Given the description of an element on the screen output the (x, y) to click on. 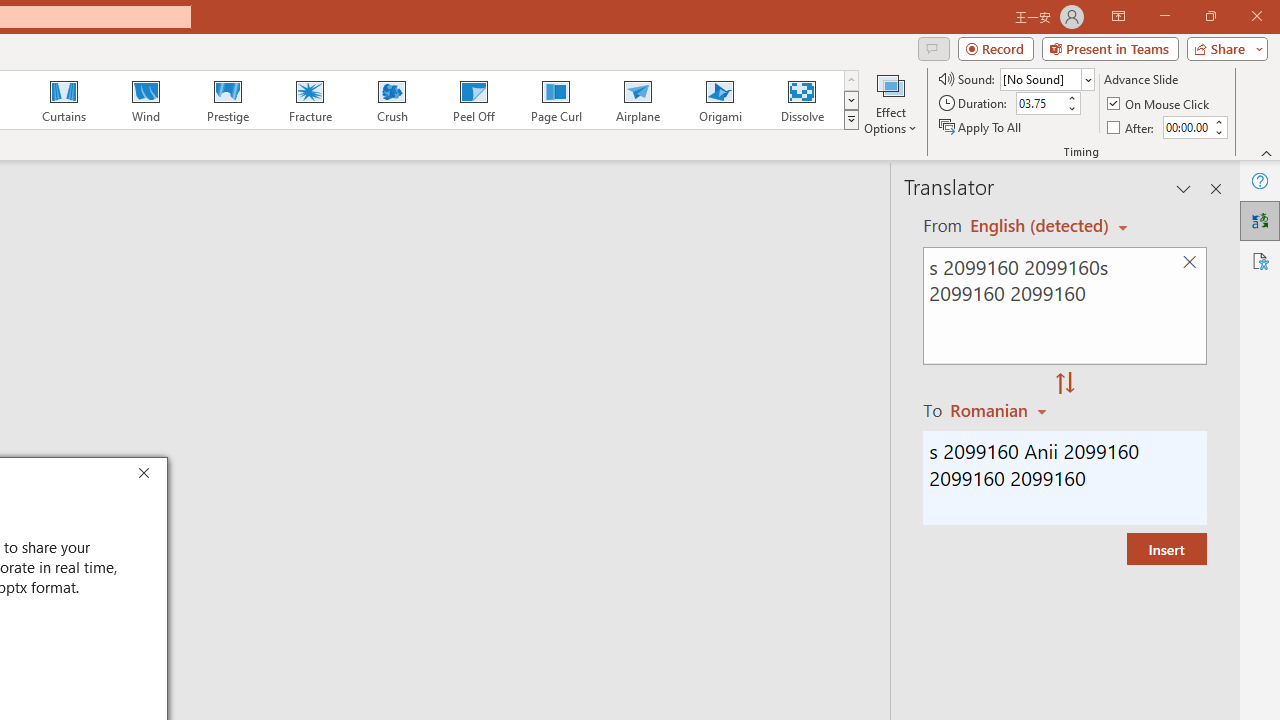
On Mouse Click (1159, 103)
